Given the description of an element on the screen output the (x, y) to click on. 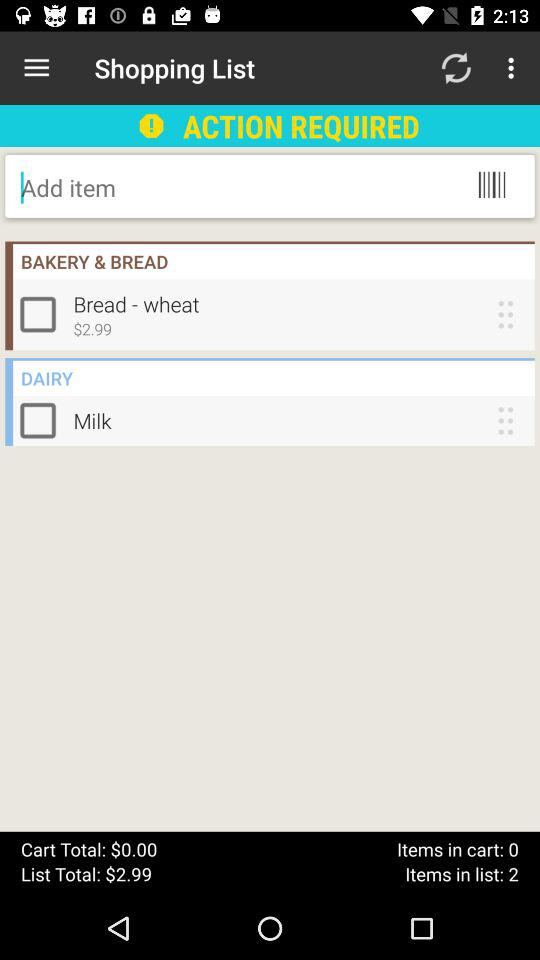
select shopping list item (41, 420)
